Given the description of an element on the screen output the (x, y) to click on. 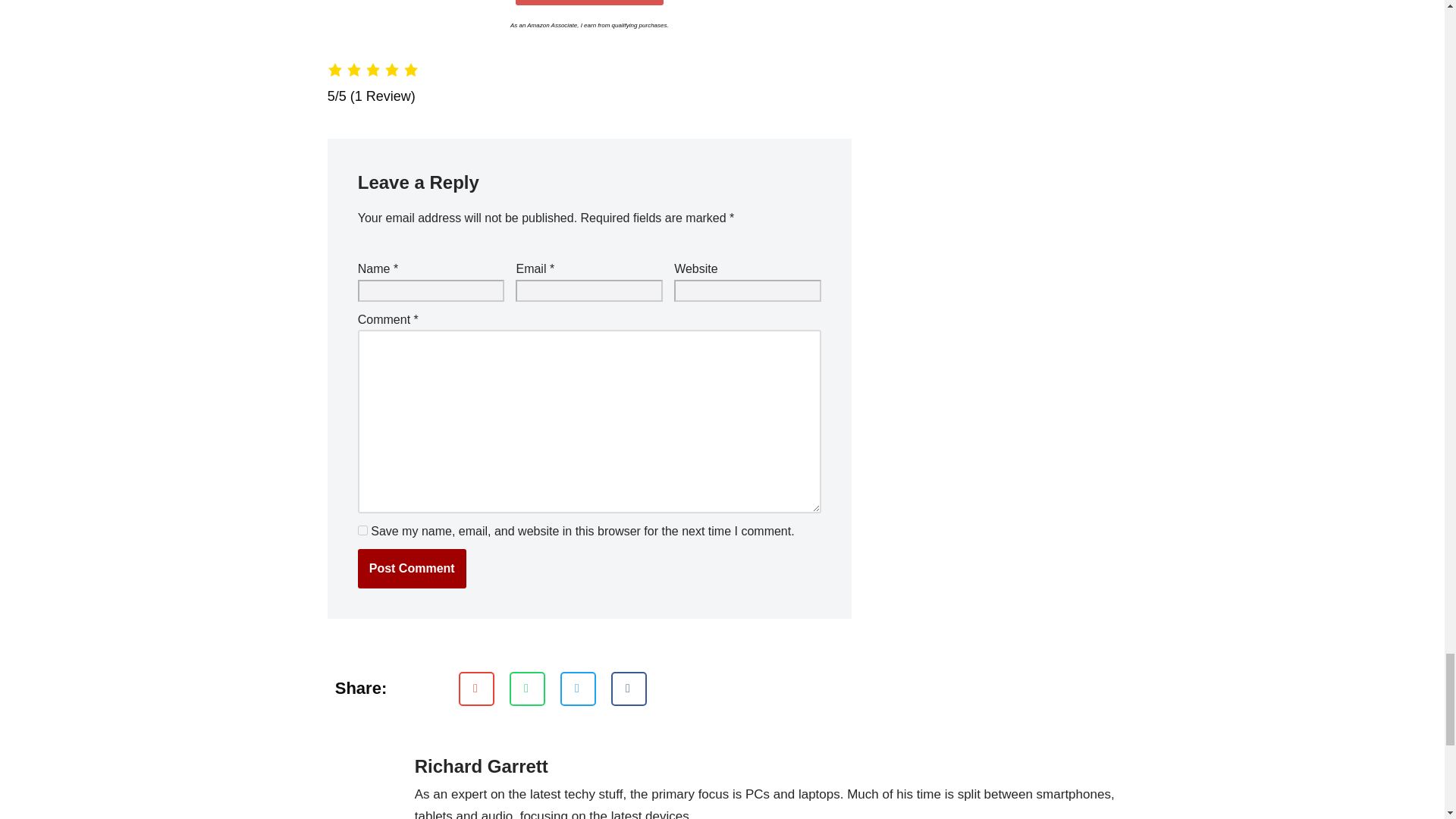
Post Comment (411, 568)
yes (363, 530)
